Given the description of an element on the screen output the (x, y) to click on. 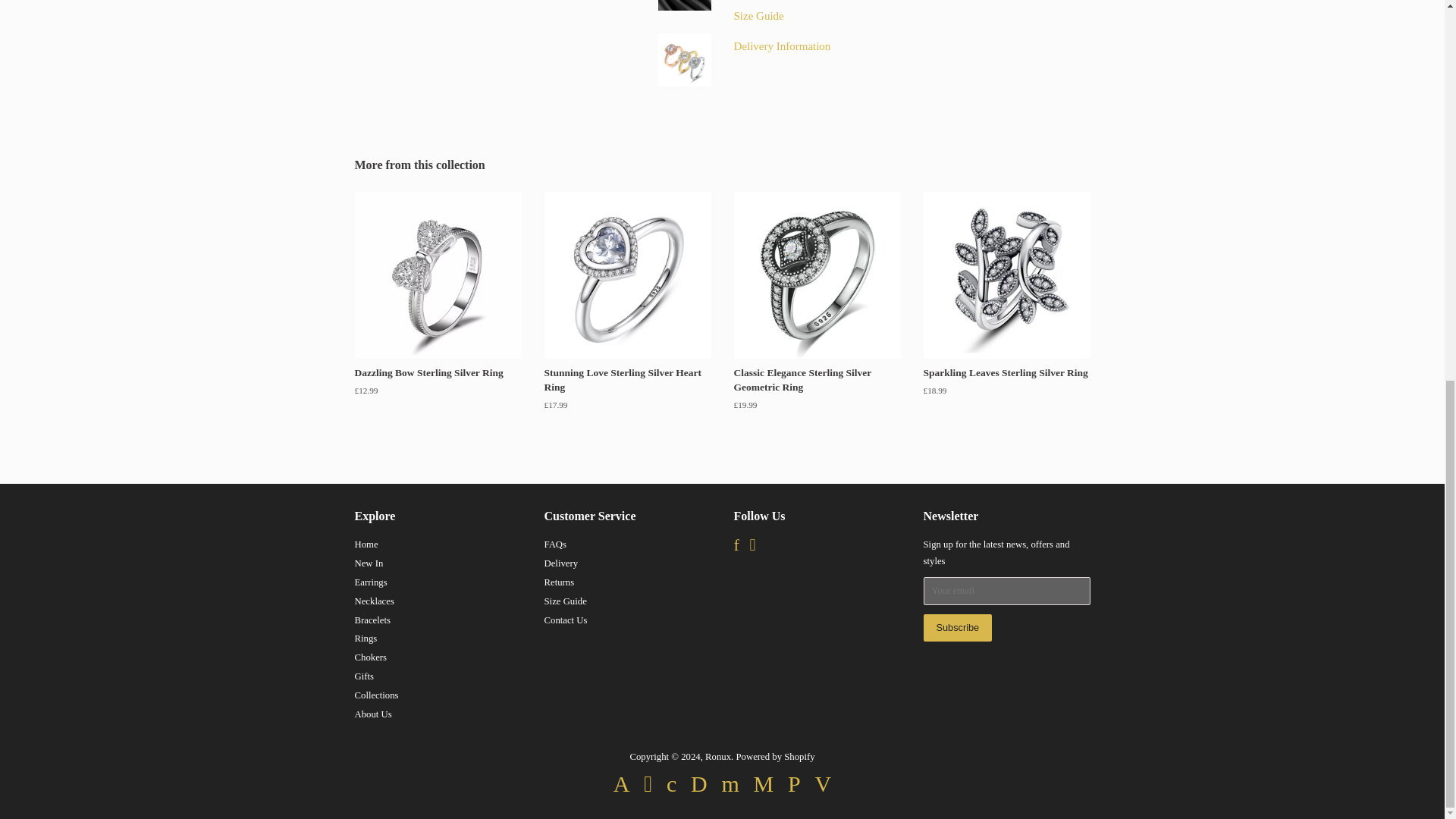
Subscribe (957, 627)
Ronux Delivery Information (782, 46)
Ronux Ring and Bracelet Size Chart (758, 15)
